Given the description of an element on the screen output the (x, y) to click on. 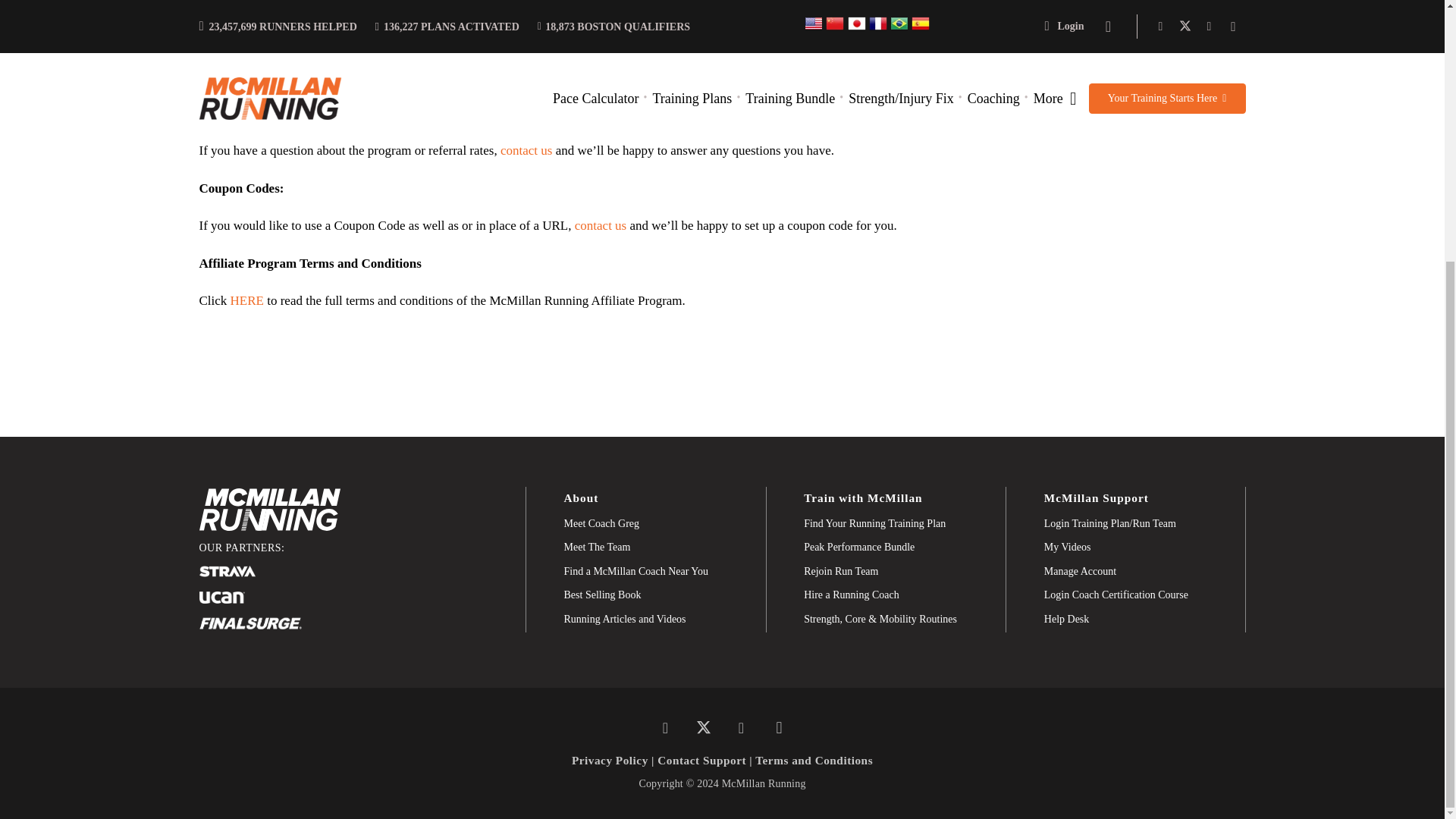
HERE (246, 300)
Find a McMillan Coach Near You (636, 571)
Twitter (703, 727)
Facebook (665, 727)
contact us (525, 150)
YouTube (741, 727)
Instagram (778, 727)
contact us (600, 225)
Best Selling Book (603, 595)
Meet The Team (597, 547)
here (406, 17)
free (228, 113)
Meet Coach Greg (602, 523)
